Given the description of an element on the screen output the (x, y) to click on. 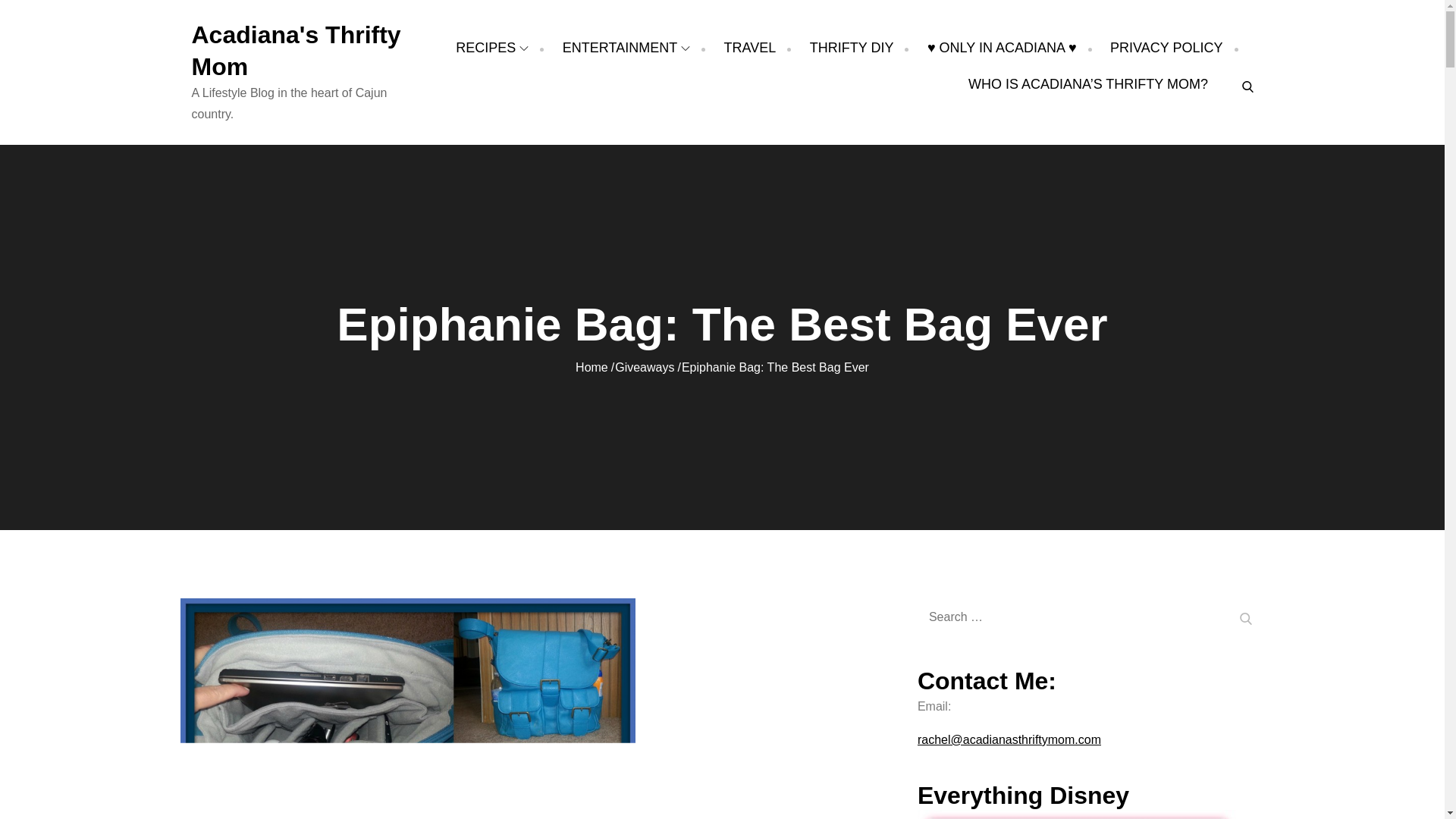
PRIVACY POLICY (1166, 47)
Acadiana's Thrifty Mom (295, 50)
ENTERTAINMENT (626, 47)
THRIFTY DIY (851, 47)
TRAVEL (749, 47)
RECIPES (491, 47)
